Given the description of an element on the screen output the (x, y) to click on. 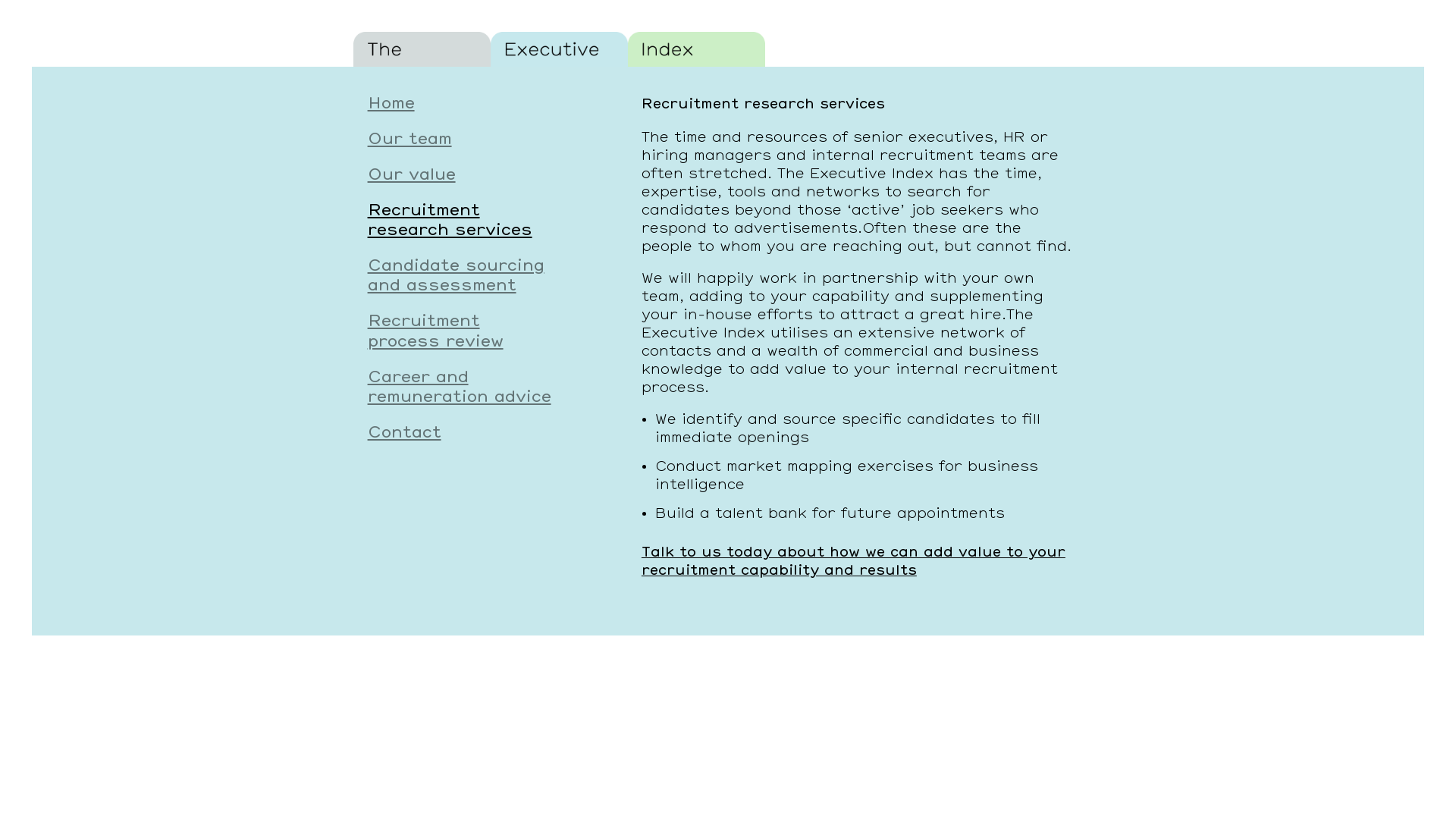
Contact Element type: text (475, 440)
Recruitment
process review Element type: text (475, 339)
Candidate sourcing
and assessment Element type: text (475, 283)
Career and
remuneration advice Element type: text (475, 395)
Recruitment
research services Element type: text (475, 228)
Our team Element type: text (475, 147)
Home Element type: text (475, 111)
Our value Element type: text (475, 182)
